Given the description of an element on the screen output the (x, y) to click on. 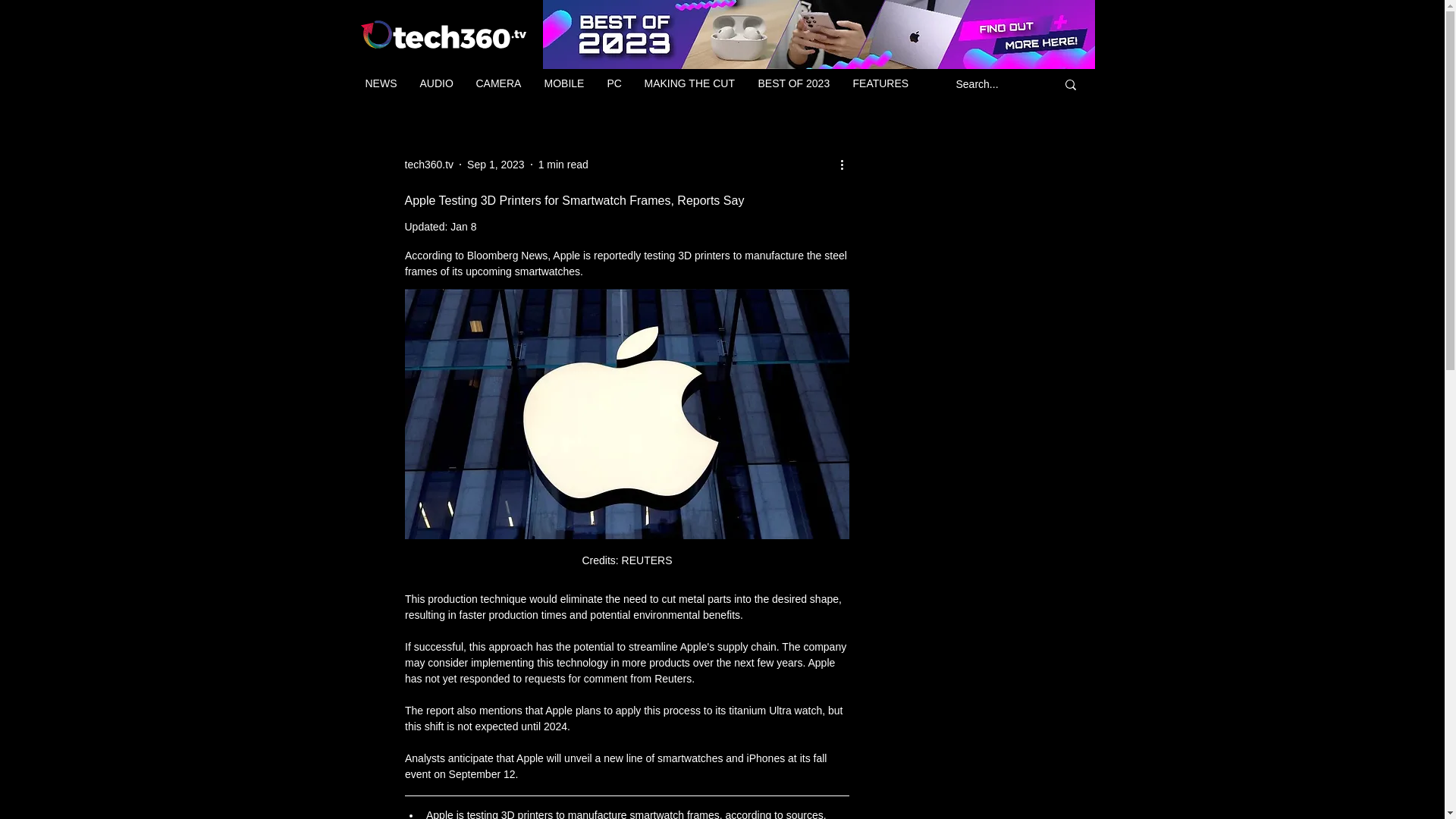
CAMERA (498, 83)
Jan 8 (462, 226)
NEWS (380, 83)
1 min read (563, 163)
MOBILE (563, 83)
FEATURES (880, 83)
PC (614, 83)
BEST OF 2023 (793, 83)
Sep 1, 2023 (495, 163)
AUDIO (435, 83)
tech360.tv (429, 163)
MAKING THE CUT (688, 83)
